Given the description of an element on the screen output the (x, y) to click on. 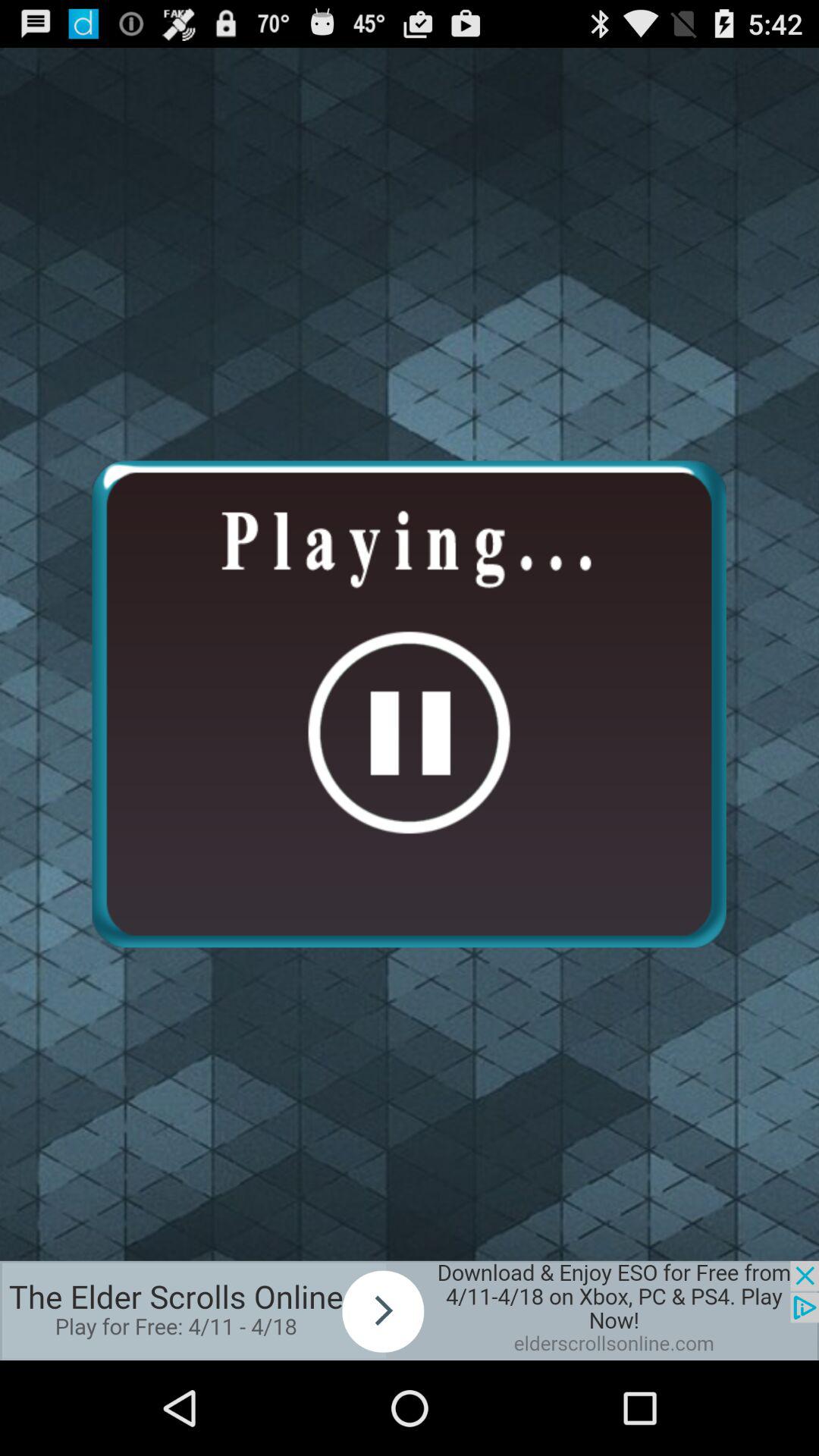
open advertisement (409, 1310)
